Given the description of an element on the screen output the (x, y) to click on. 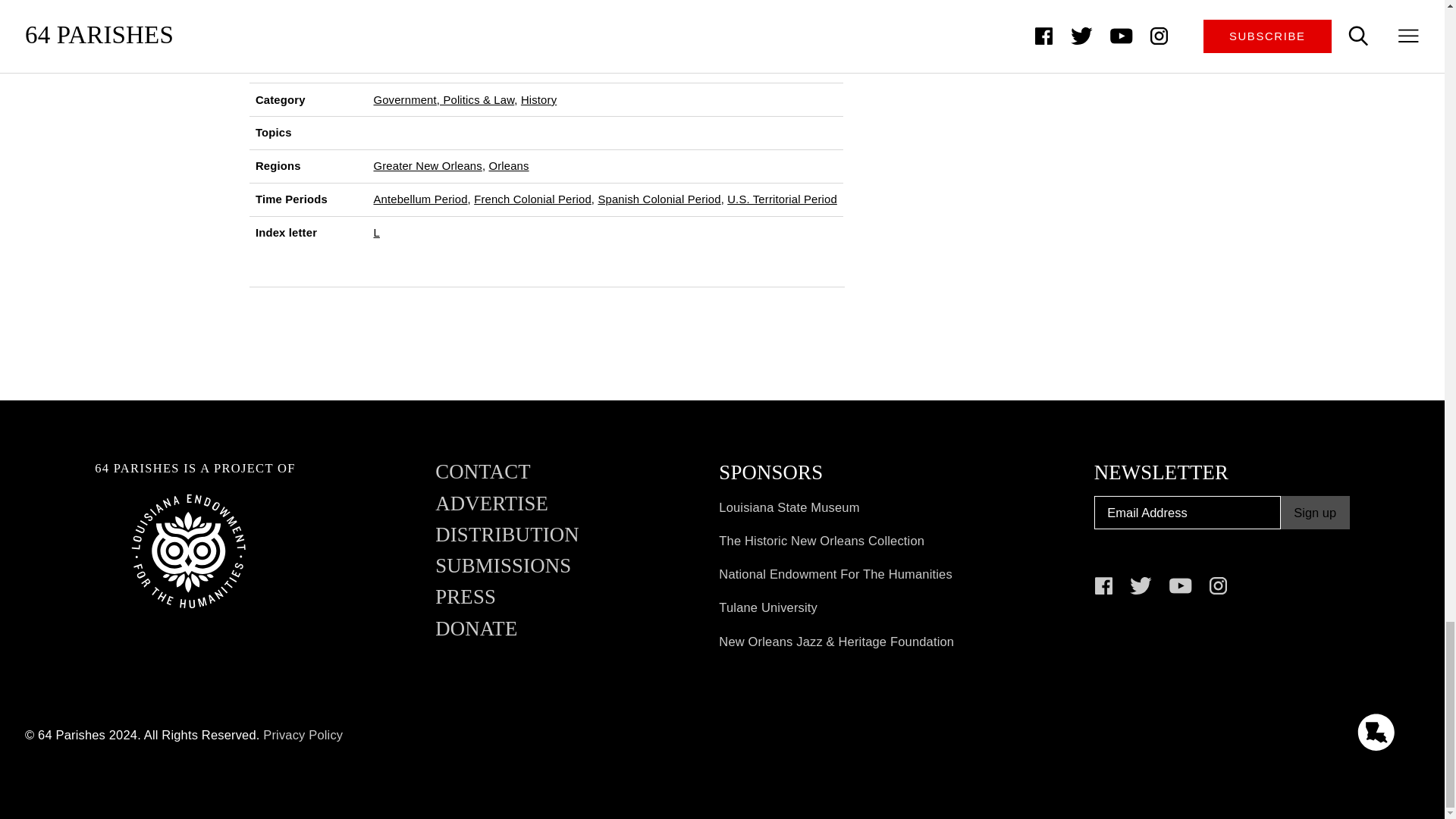
Sign up (1315, 512)
